Given the description of an element on the screen output the (x, y) to click on. 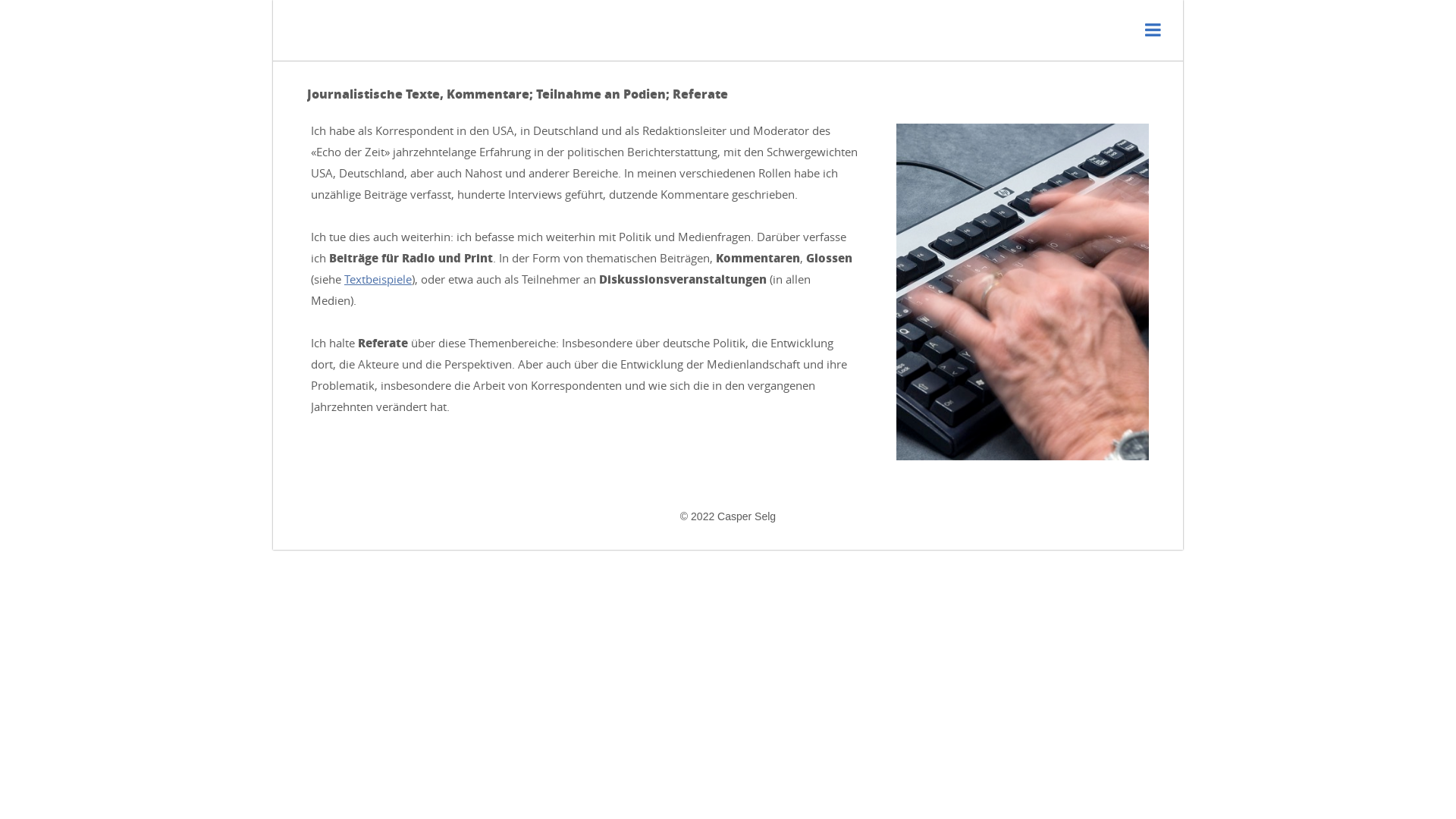
Textbeispiele Element type: text (377, 278)
